Given the description of an element on the screen output the (x, y) to click on. 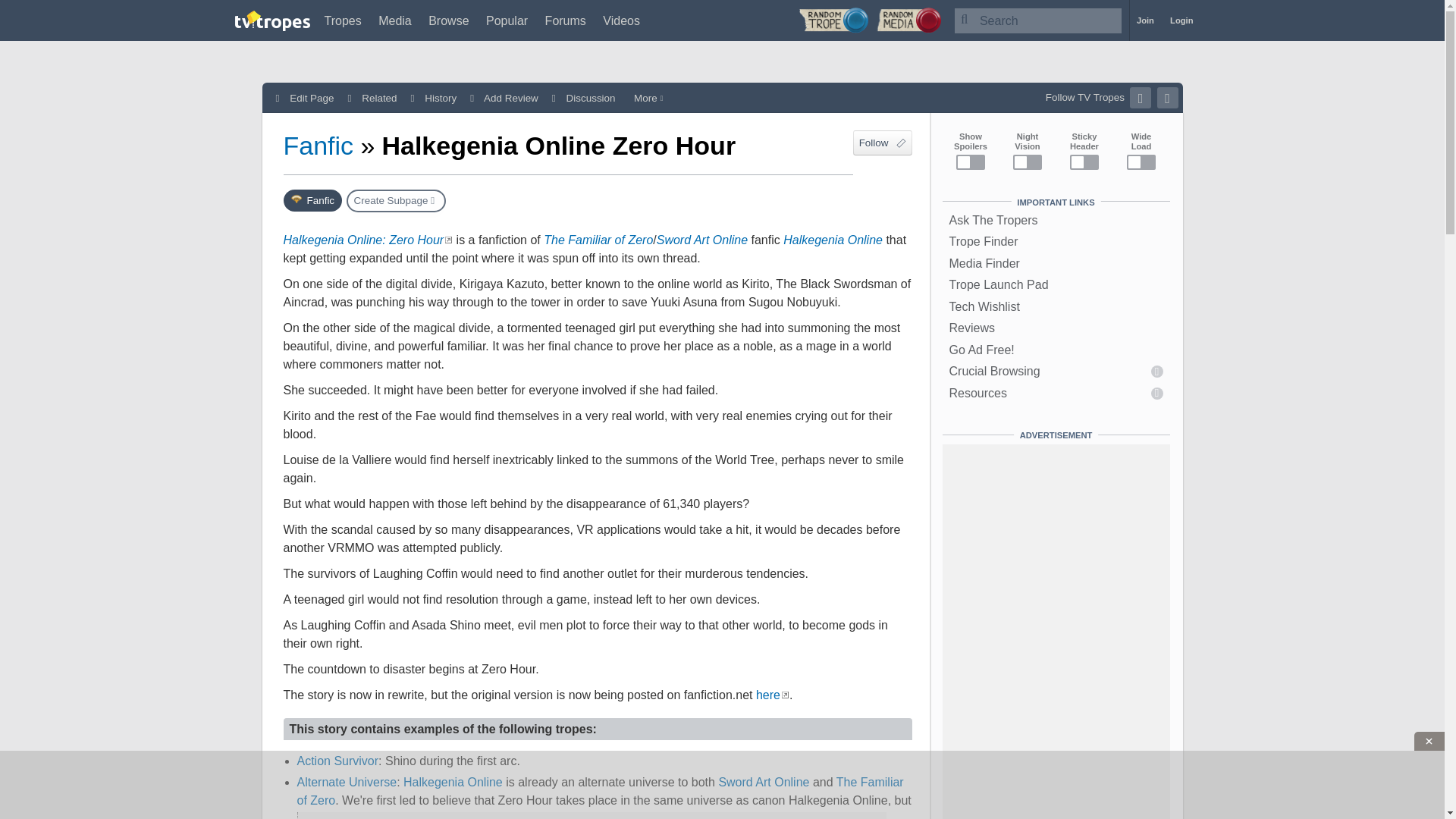
Login (1181, 20)
The Fanfic page (312, 200)
Popular (506, 20)
Browse (448, 20)
Videos (621, 20)
3rd party ad content (721, 785)
Media (395, 20)
Tropes (342, 20)
Forums (565, 20)
Join (1144, 20)
